Given the description of an element on the screen output the (x, y) to click on. 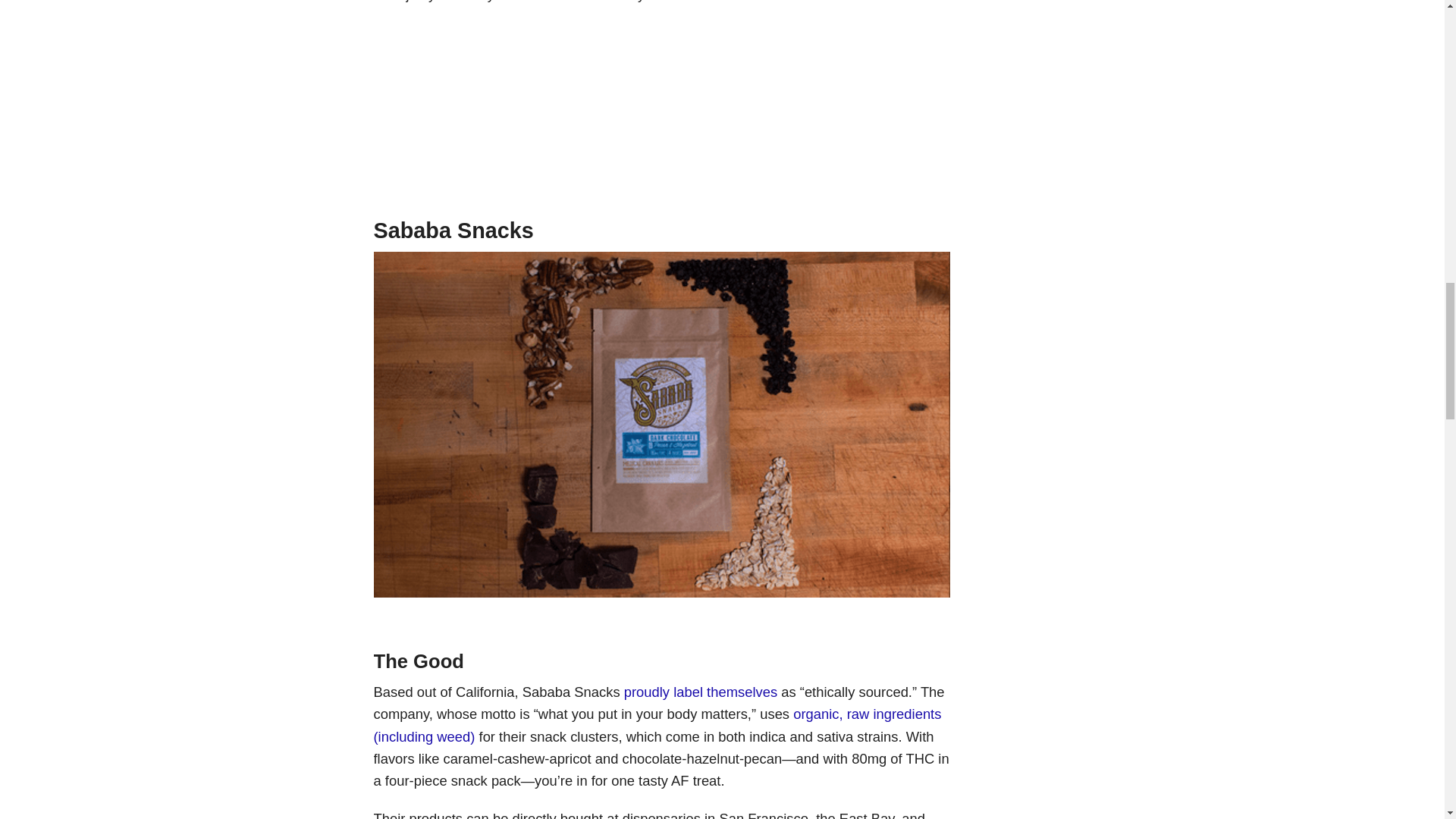
3rd party ad content (660, 114)
